Given the description of an element on the screen output the (x, y) to click on. 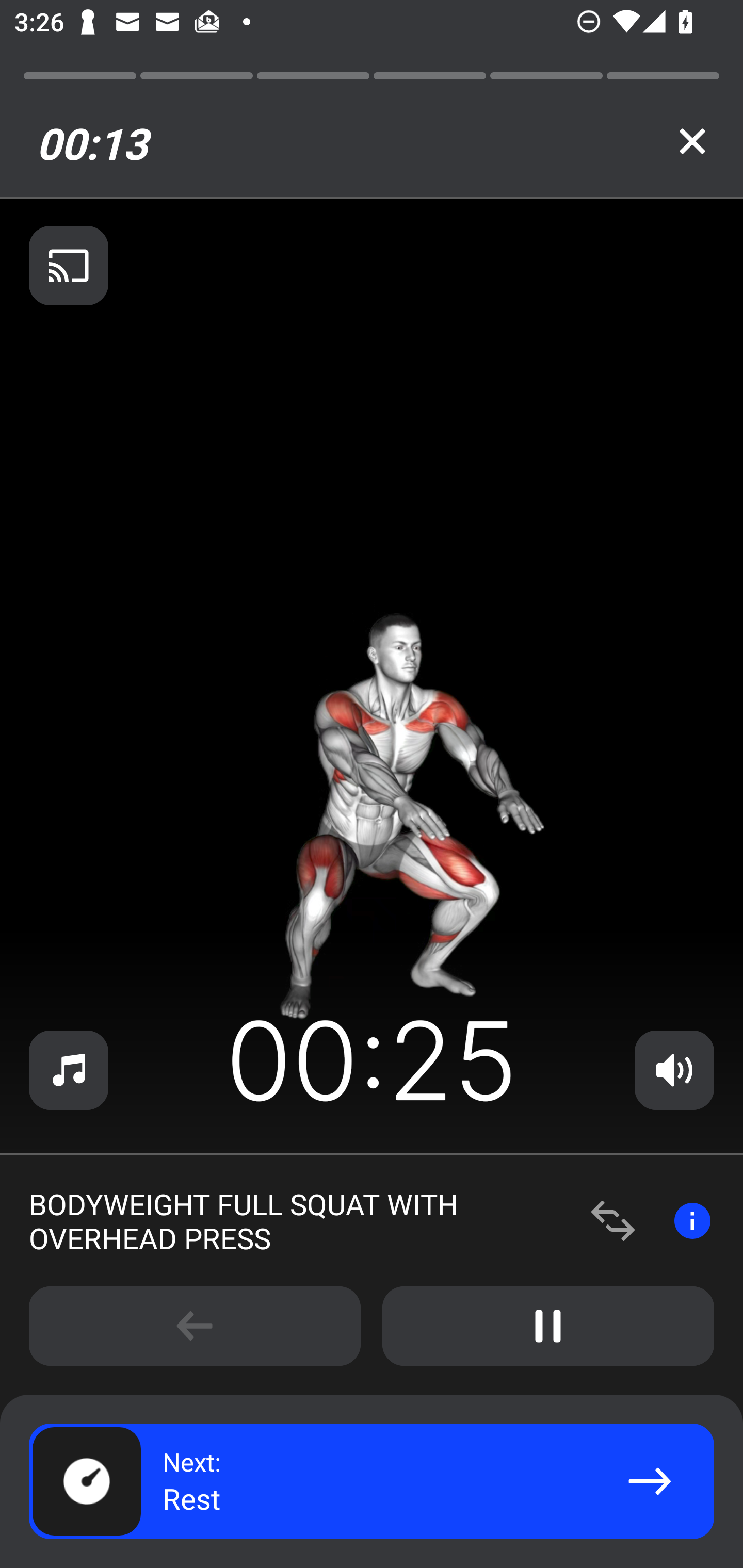
Next: Rest (371, 1481)
